Given the description of an element on the screen output the (x, y) to click on. 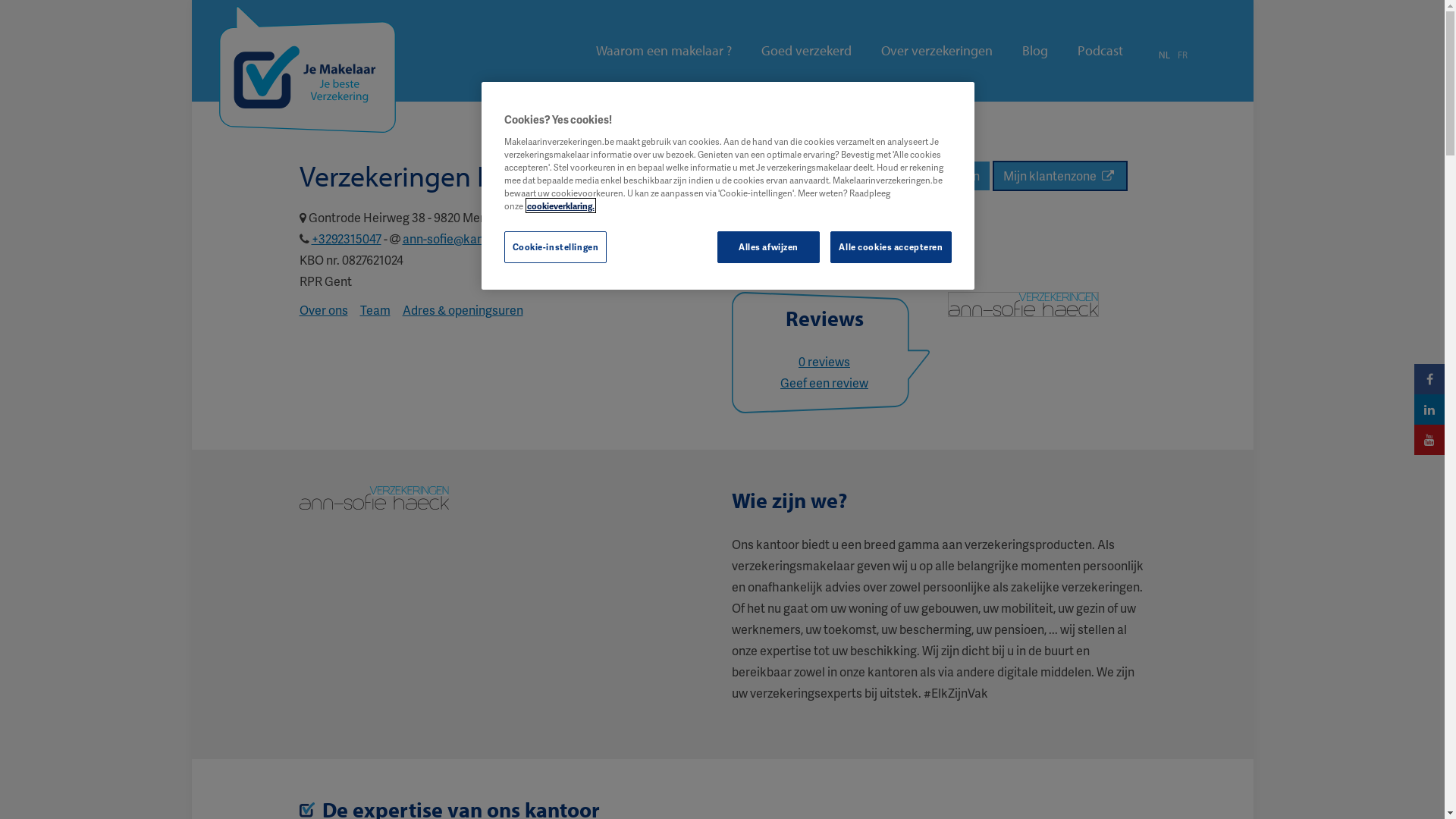
cookieverklaring. Element type: text (559, 205)
Blog Element type: text (1034, 50)
Alles afwijzen Element type: text (768, 247)
Documenten Element type: text (943, 175)
Podcast Element type: text (1099, 50)
Contact Element type: text (861, 175)
Over ons Element type: text (322, 309)
+3292315047 Element type: text (345, 238)
ann-sofie@kantoorhaeck.be Element type: text (478, 238)
NL Element type: text (1164, 54)
Mijn klantenzone Element type: text (1058, 175)
0 reviews Element type: text (824, 361)
Team Element type: text (374, 309)
Goed verzekerd Element type: text (806, 50)
Over verzekeringen Element type: text (936, 50)
Waarom een makelaar ? Element type: text (663, 50)
Cookie-instellingen Element type: text (554, 247)
Adres & openingsuren Element type: text (461, 309)
FR Element type: text (1181, 54)
Geef een review Element type: text (824, 382)
Alle cookies accepteren Element type: text (890, 247)
